Given the description of an element on the screen output the (x, y) to click on. 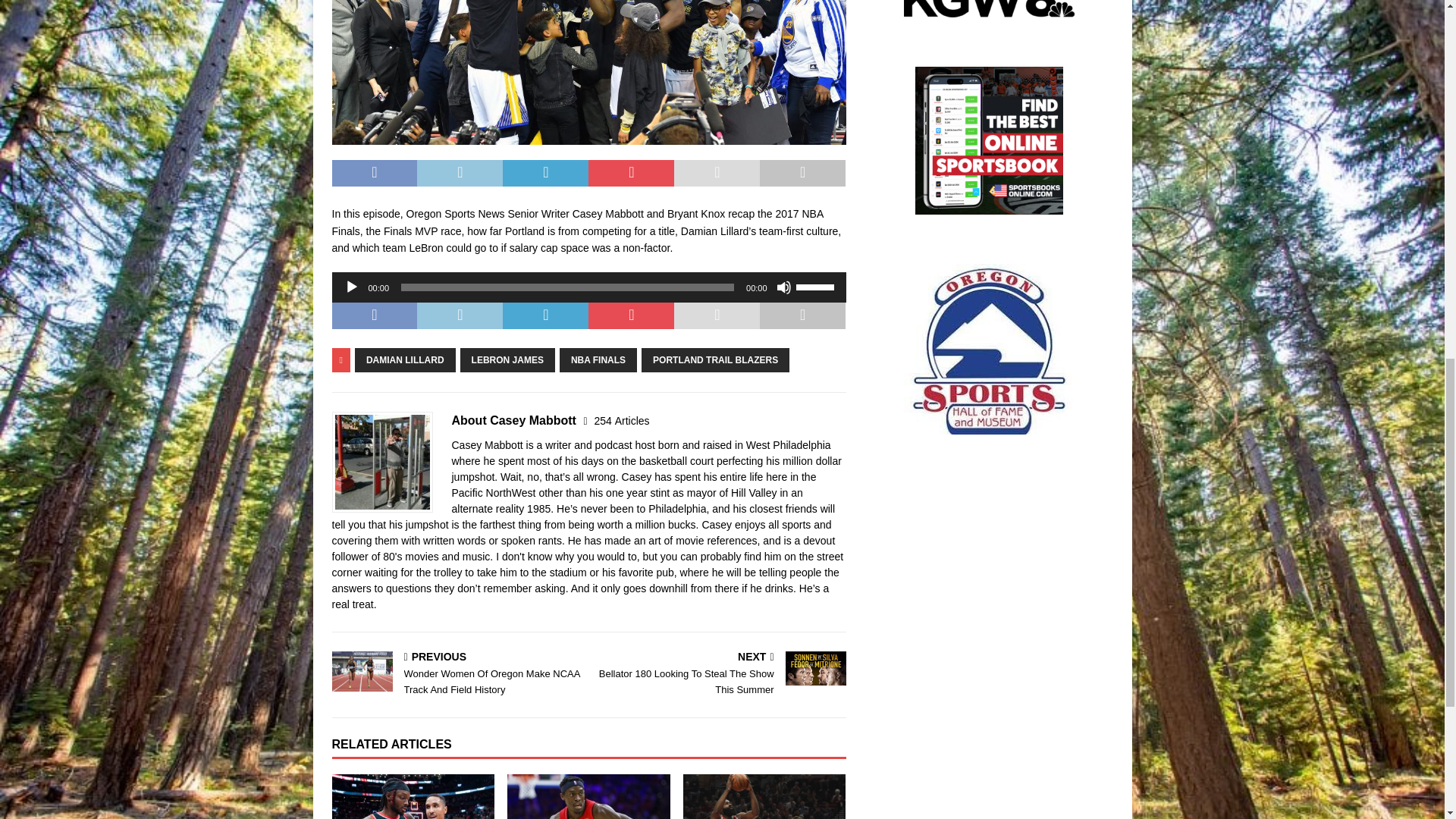
Play (351, 287)
Warriors (588, 72)
Mute (784, 287)
